Given the description of an element on the screen output the (x, y) to click on. 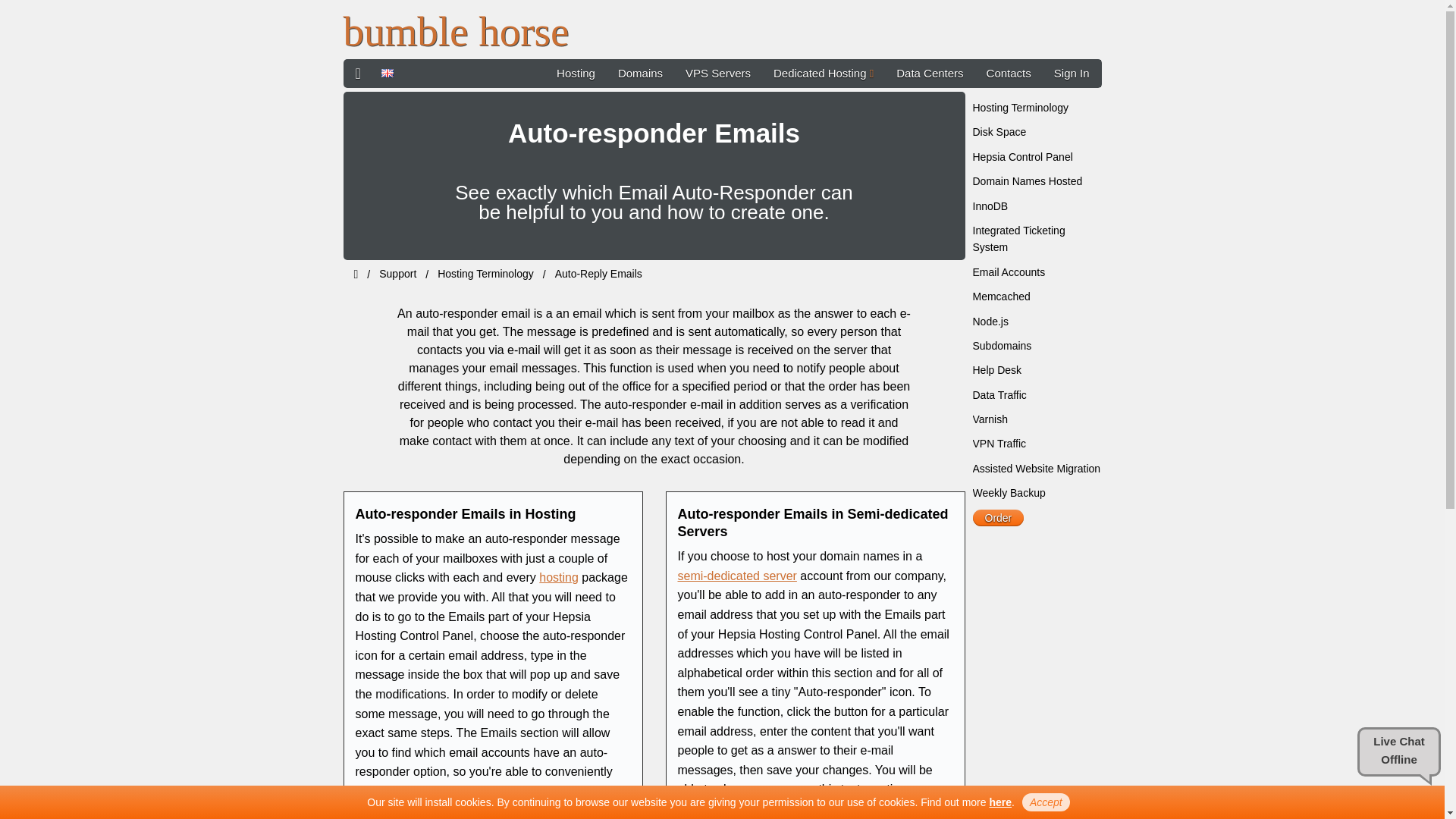
Dedicated Hosting (823, 72)
Varnish (989, 419)
VPN Traffic (999, 443)
Order (997, 517)
Data Traffic (999, 395)
Disk Space (999, 132)
Live chat offline (1398, 751)
Email Accounts (1008, 272)
Integrated Ticketing System (1018, 238)
Memcached (1000, 296)
